Given the description of an element on the screen output the (x, y) to click on. 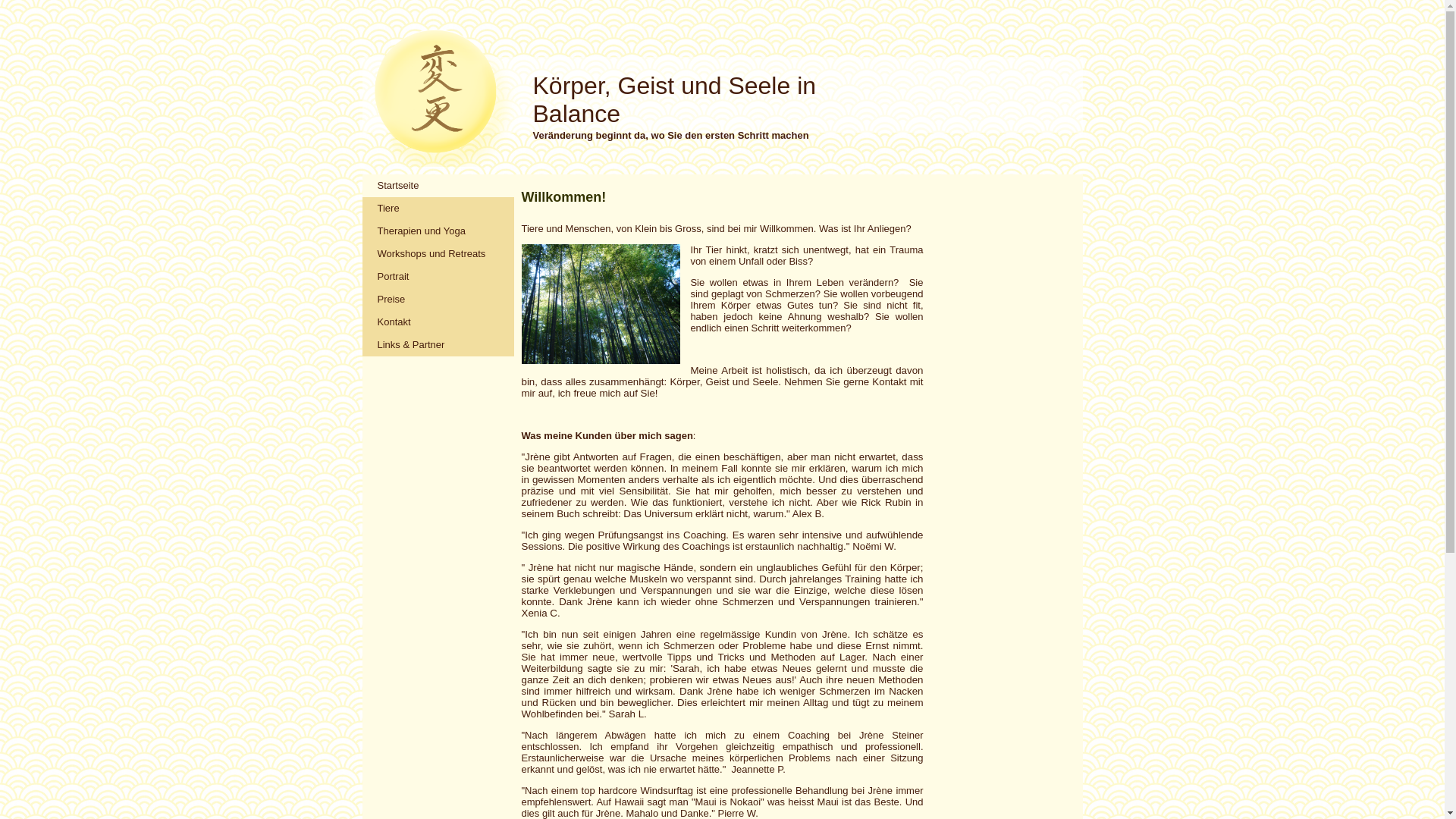
Therapien und Yoga Element type: text (438, 230)
Startseite Element type: text (438, 185)
Preise Element type: text (438, 299)
Links & Partner Element type: text (438, 344)
Portrait Element type: text (438, 276)
Kontakt Element type: text (438, 321)
Tiere Element type: text (438, 208)
Workshops und Retreats Element type: text (438, 253)
